Given the description of an element on the screen output the (x, y) to click on. 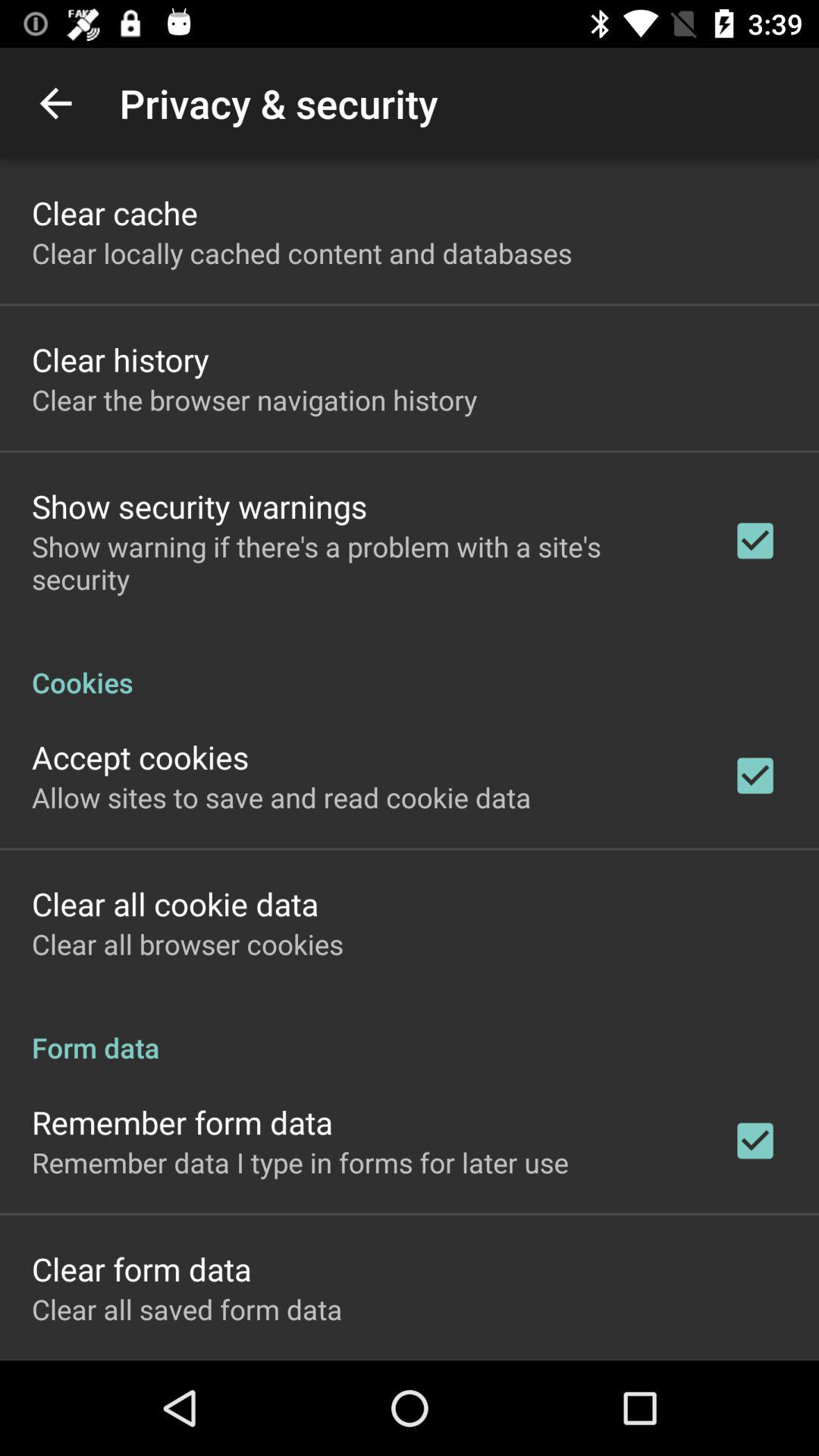
tap the icon above the allow sites to (140, 756)
